Given the description of an element on the screen output the (x, y) to click on. 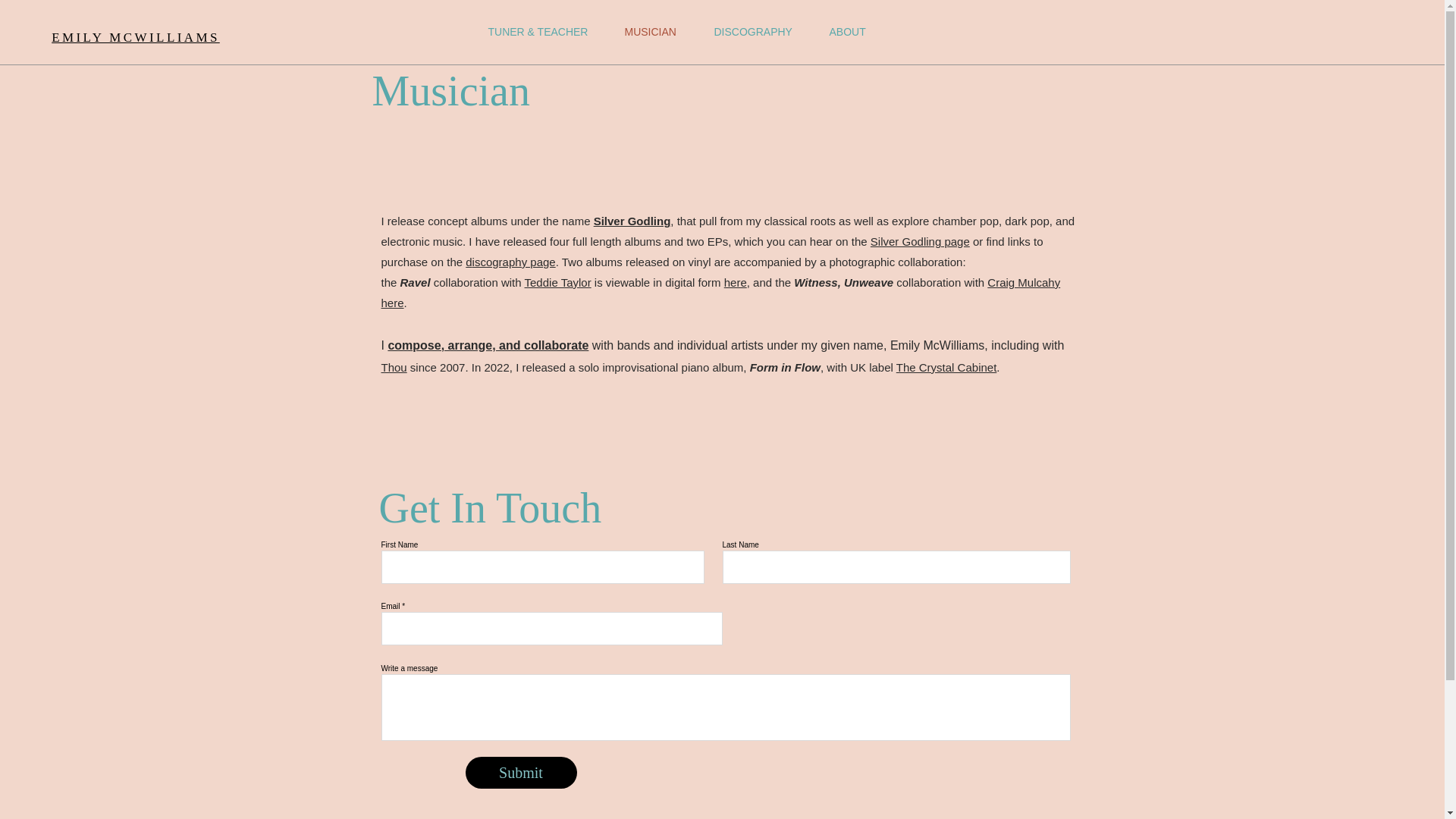
ABOUT (846, 32)
Craig Mulcahy (1023, 282)
compose, arrange, and collaborate (487, 345)
here (734, 282)
here (391, 302)
DISCOGRAPHY (751, 32)
MUSICIAN (649, 32)
Silver Godling page (919, 241)
Teddie Taylor (557, 282)
Silver Godling (632, 220)
EMILY MCWILLIAMS (134, 37)
Thou (393, 367)
The Crystal Cabinet (946, 367)
discography page (509, 261)
Submit (520, 772)
